Given the description of an element on the screen output the (x, y) to click on. 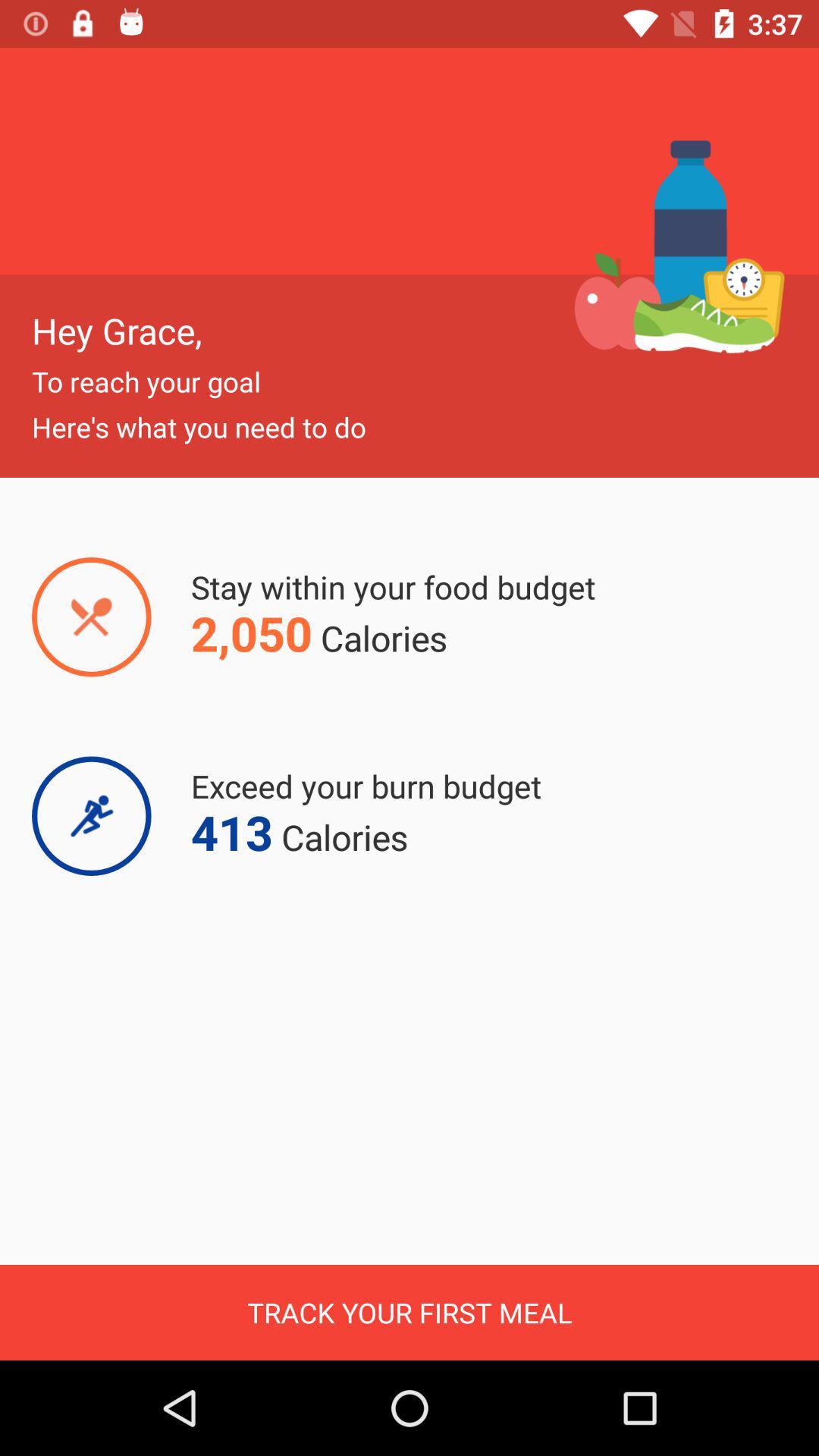
click track your first item (409, 1312)
